Given the description of an element on the screen output the (x, y) to click on. 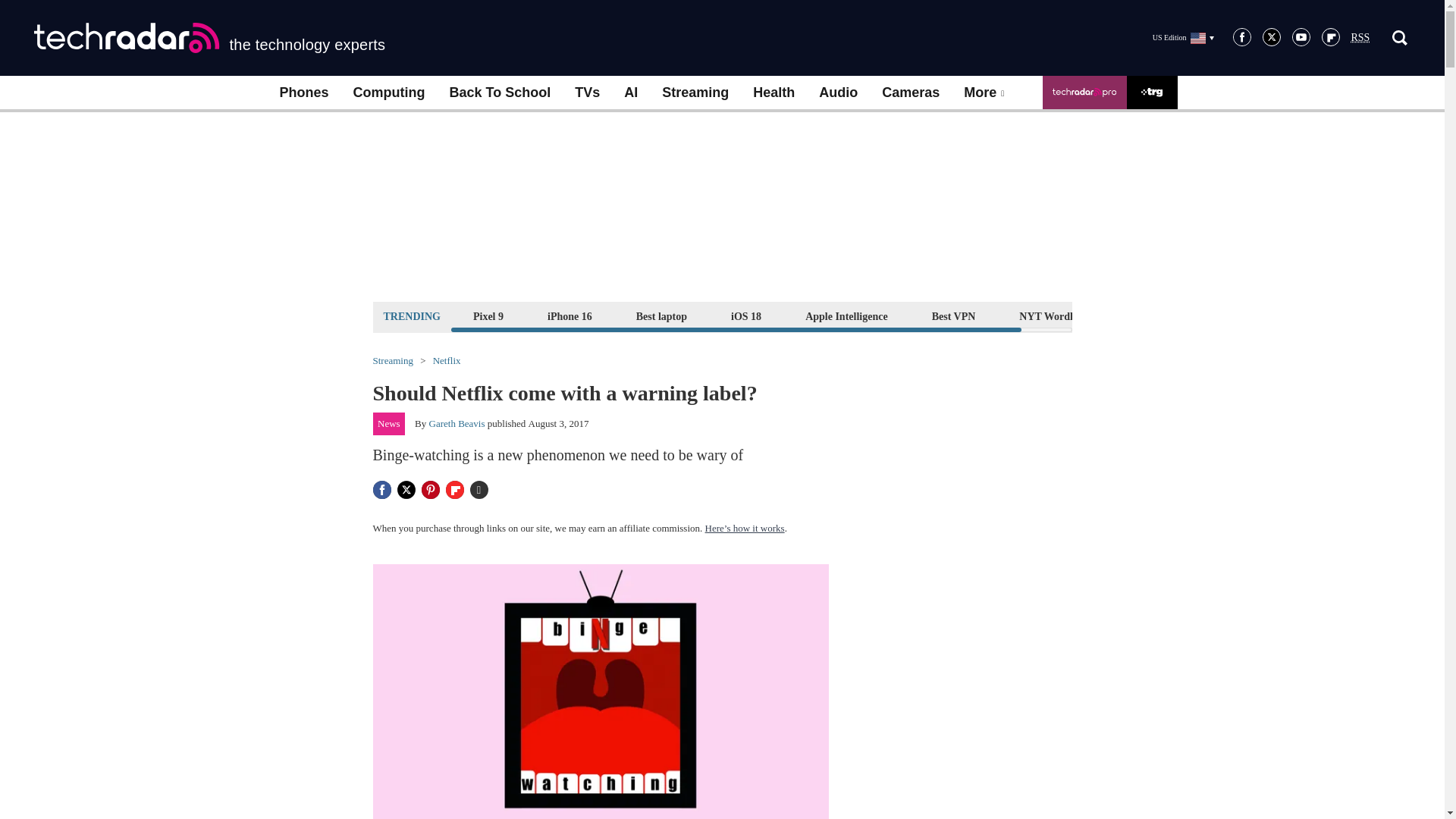
Back To School (499, 92)
Cameras (910, 92)
Really Simple Syndication (1360, 37)
Audio (837, 92)
the technology experts (209, 38)
TVs (586, 92)
Health (773, 92)
Computing (389, 92)
AI (630, 92)
Phones (303, 92)
